Given the description of an element on the screen output the (x, y) to click on. 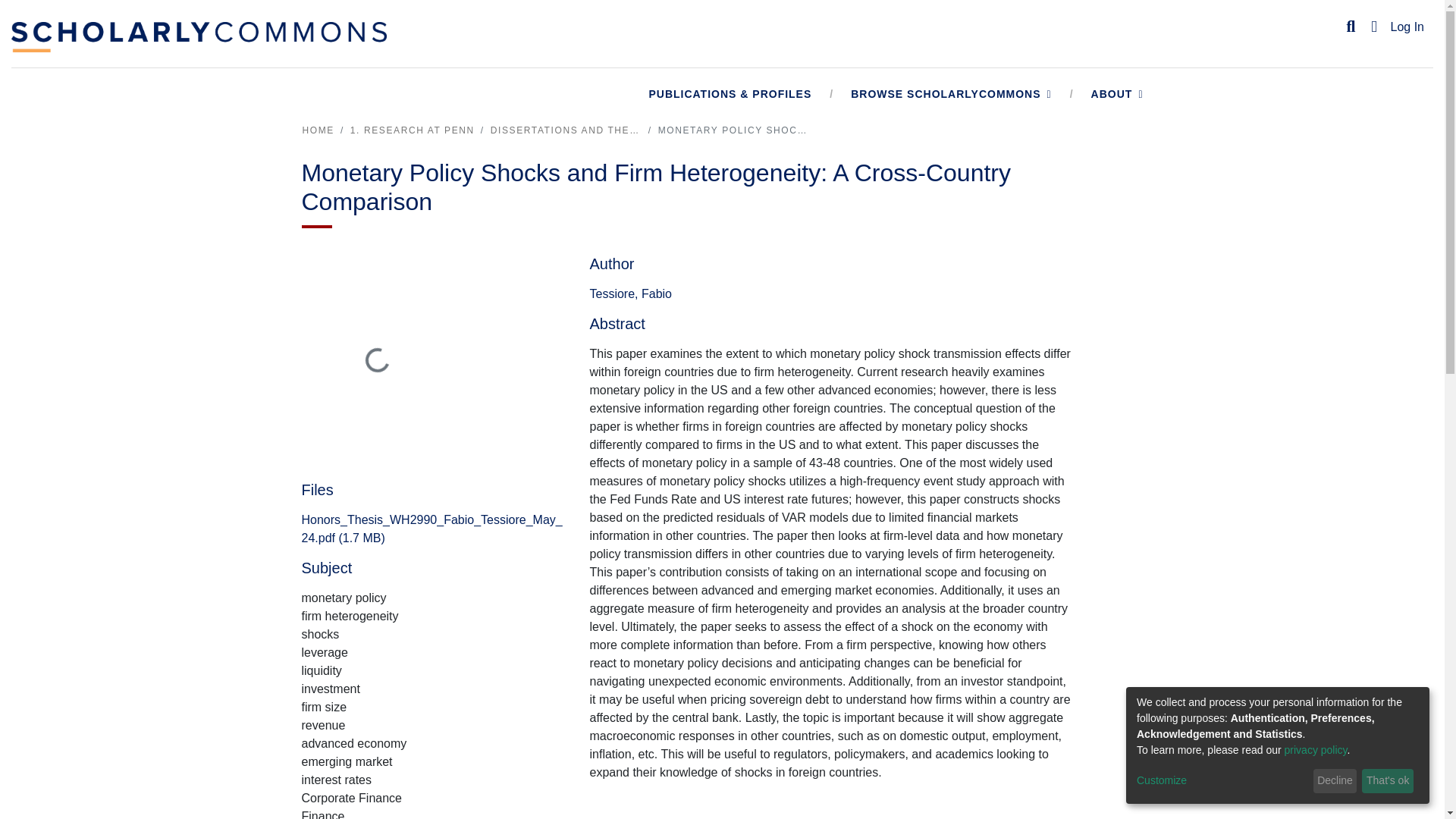
Log In (1406, 26)
privacy policy (1316, 749)
Search (1350, 27)
1. RESEARCH AT PENN (412, 130)
Tessiore, Fabio (630, 293)
BROWSE SCHOLARLYCOMMONS (951, 94)
ABOUT (1117, 94)
DISSERTATIONS AND THESES (566, 130)
Language switch (1374, 27)
HOME (317, 130)
